Given the description of an element on the screen output the (x, y) to click on. 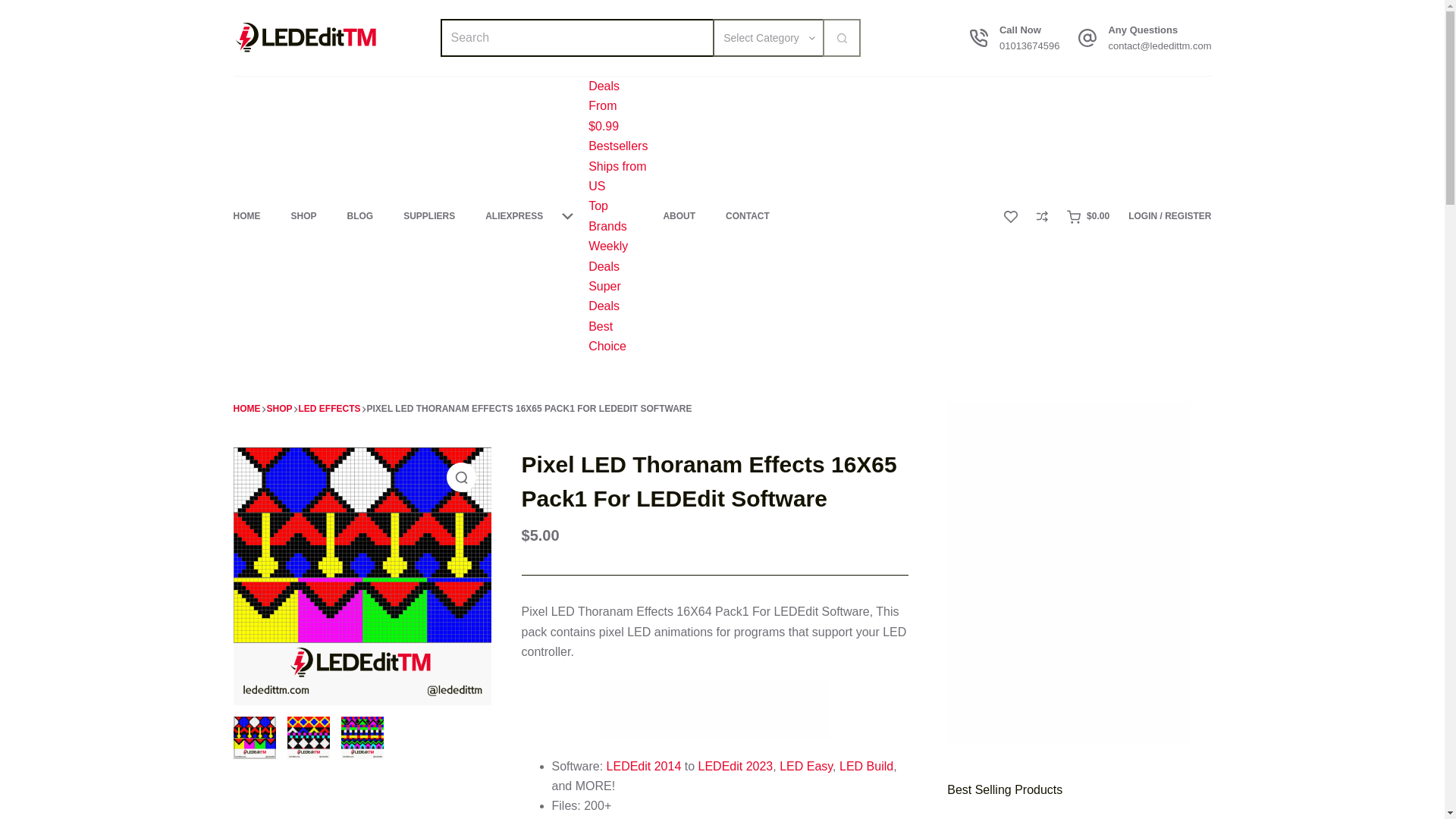
Skip to content (15, 7)
Search for... (576, 37)
